Given the description of an element on the screen output the (x, y) to click on. 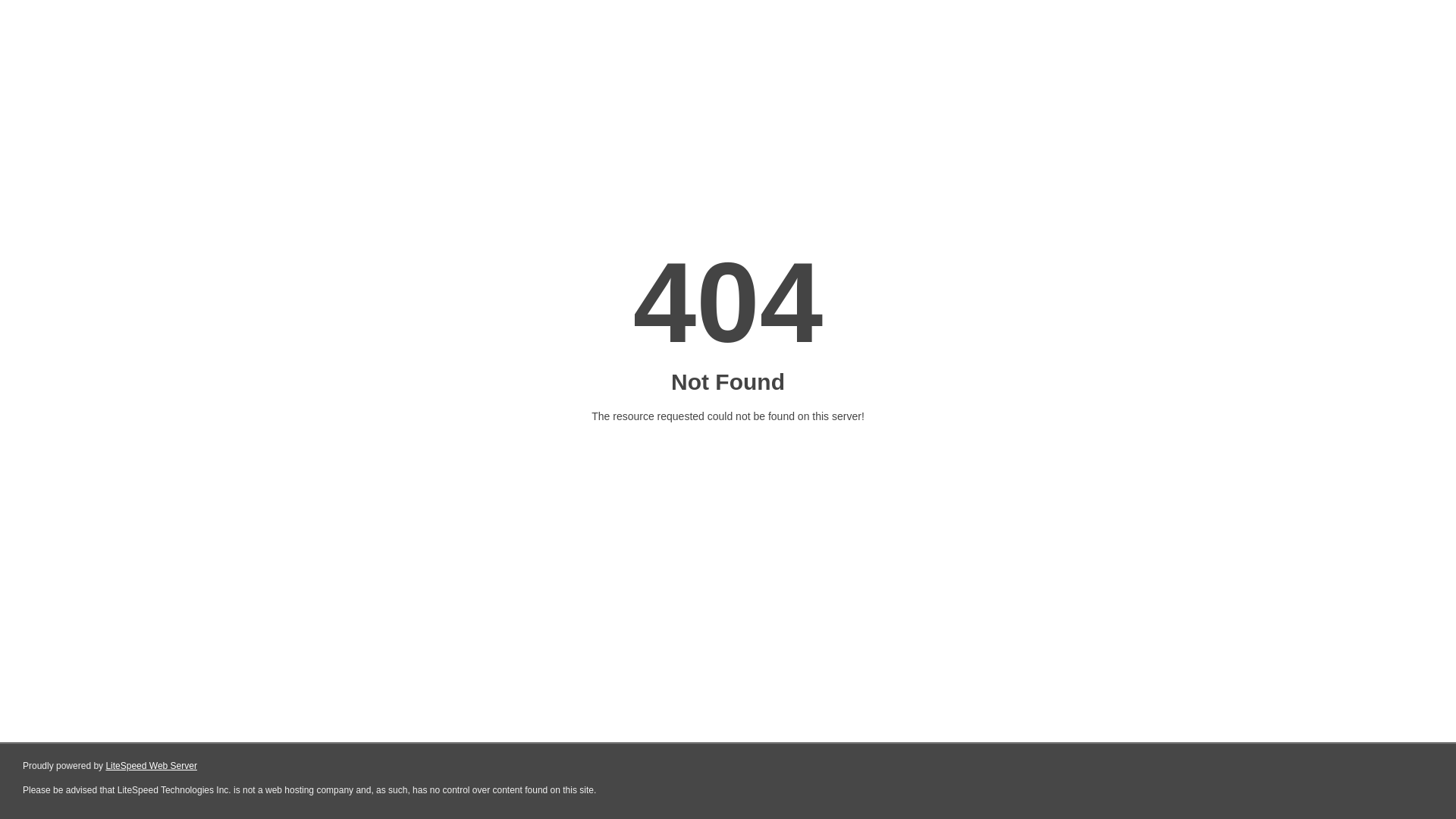
LiteSpeed Web Server Element type: text (151, 765)
